Given the description of an element on the screen output the (x, y) to click on. 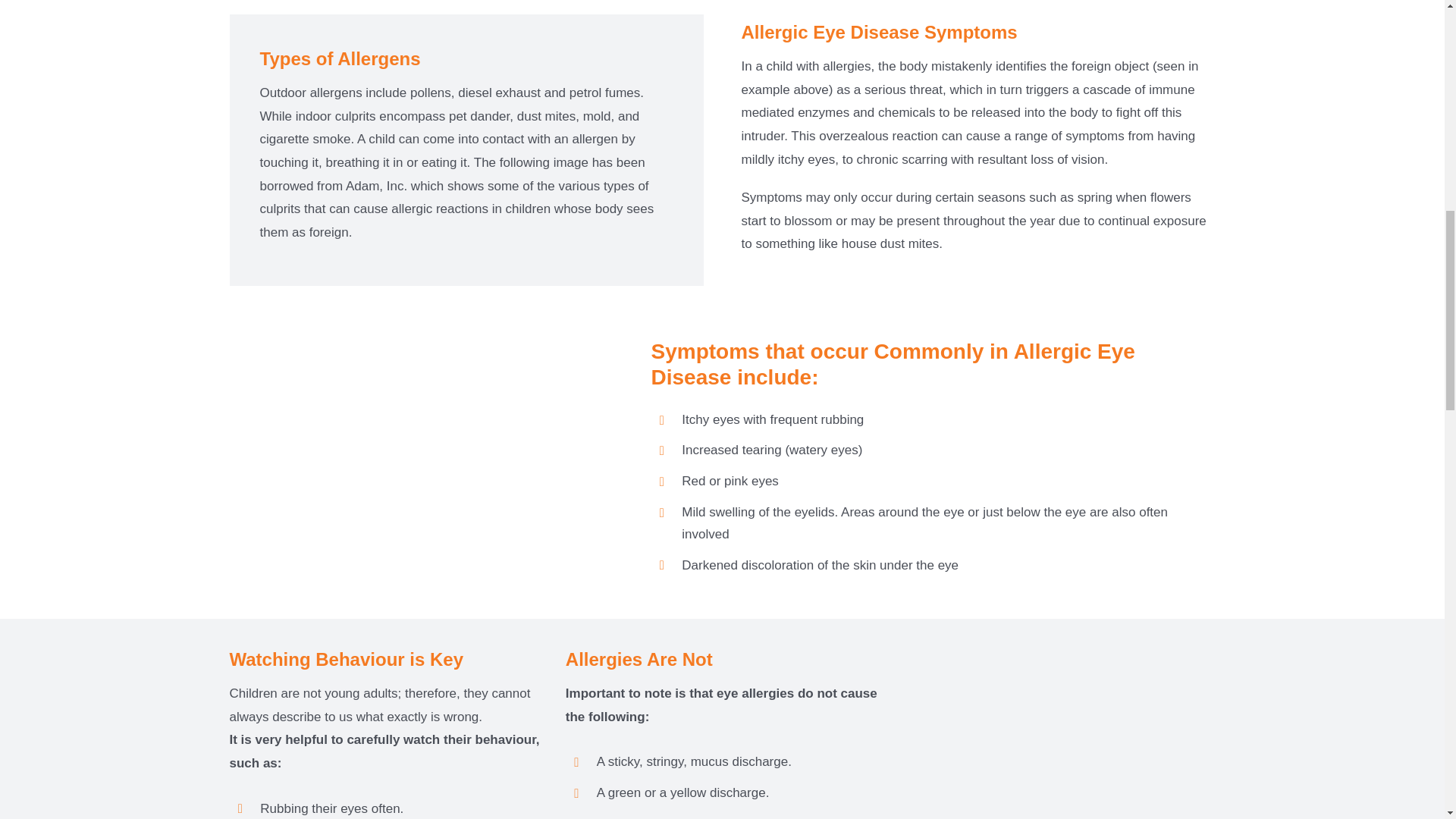
Exhaust Fumes (520, 455)
Eye Allergy (317, 455)
Allergic Reactions (1058, 746)
